Given the description of an element on the screen output the (x, y) to click on. 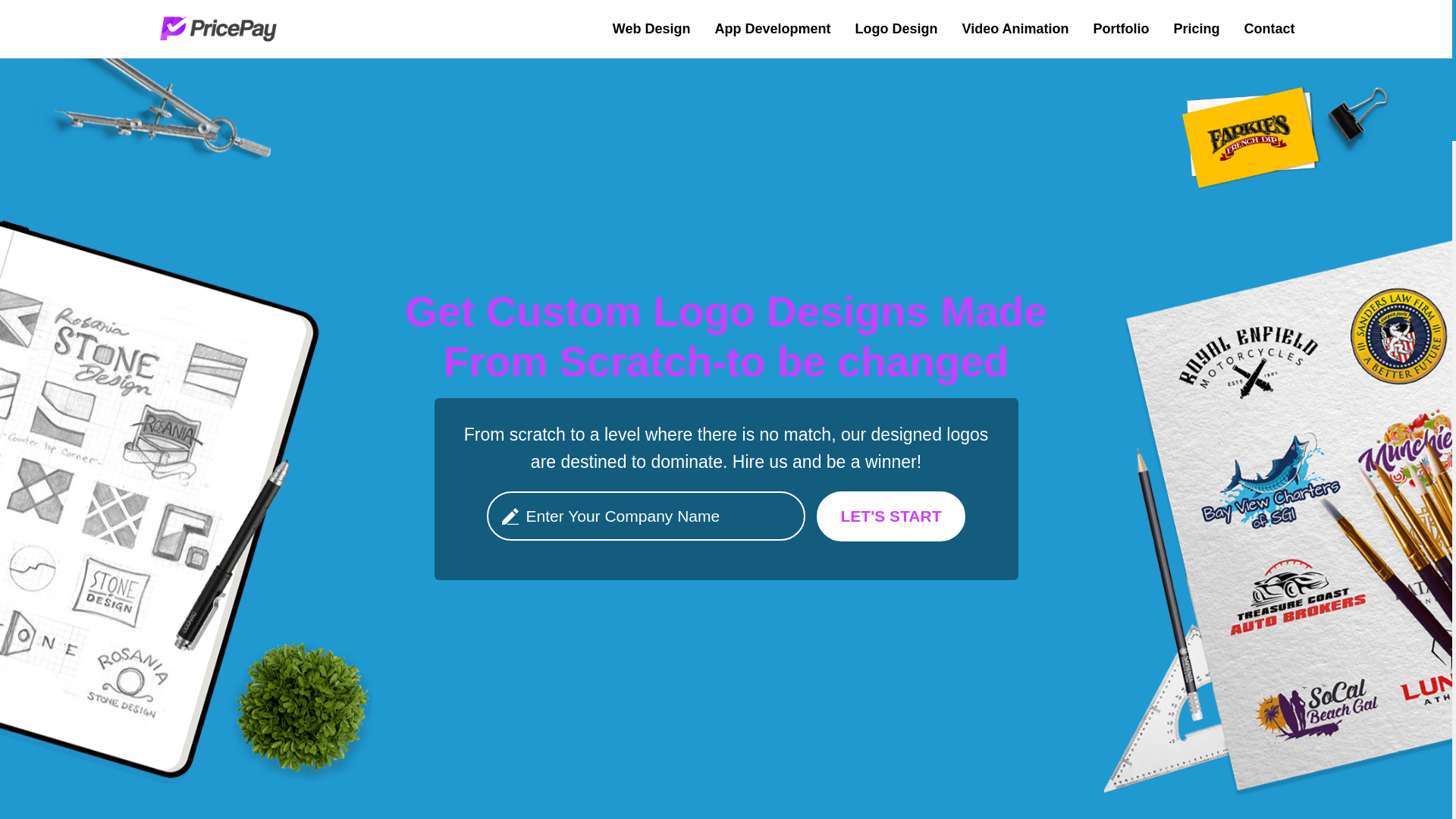
Video Animation (1015, 29)
LET'S START (891, 516)
App Development (772, 29)
Web Design (651, 29)
Logo Design (895, 29)
Portfolio (1120, 29)
Contact (1264, 29)
Pricing (1196, 29)
